Given the description of an element on the screen output the (x, y) to click on. 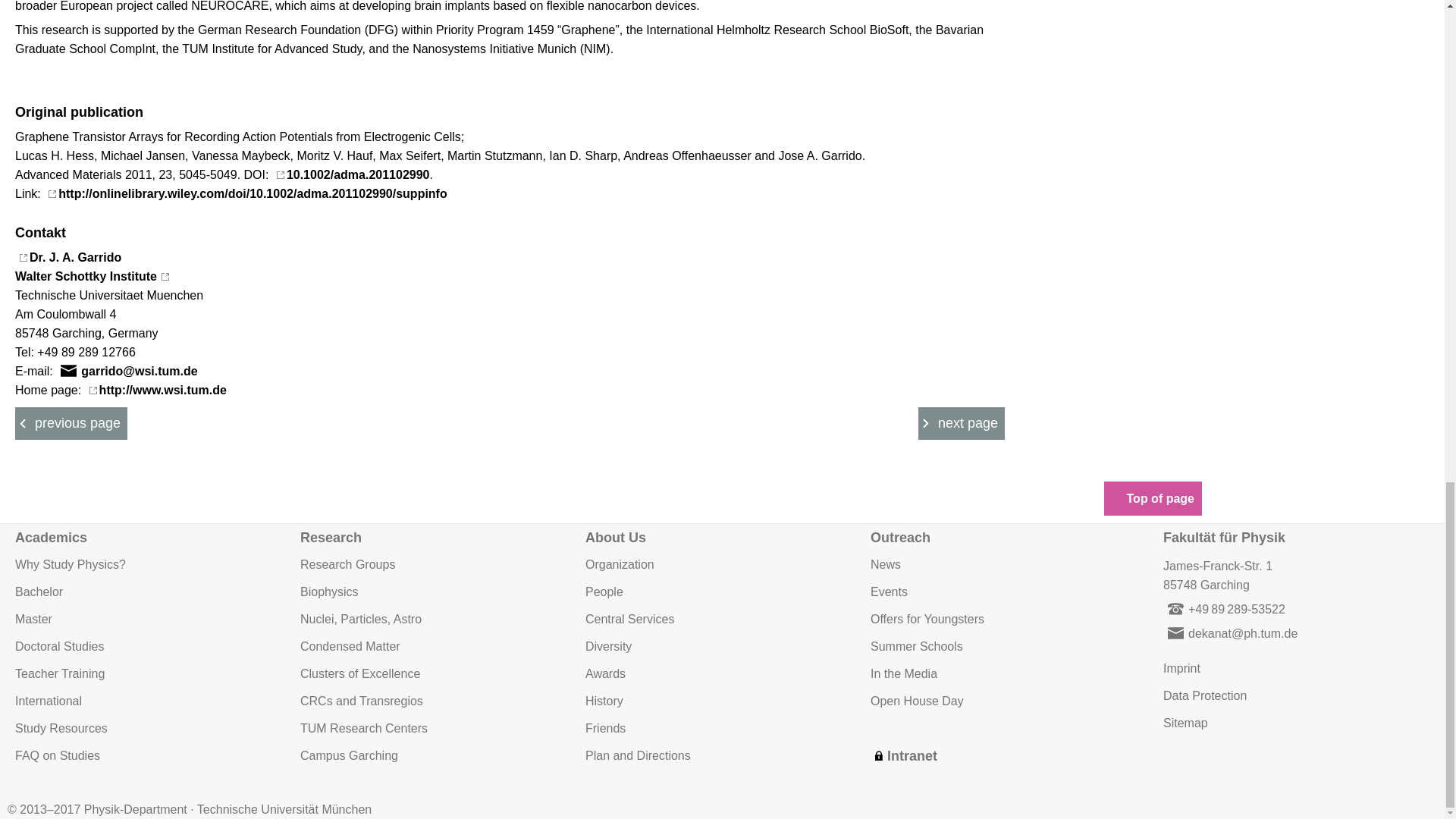
2011-11-15 (961, 423)
Nuclei, Particles, and Astrophysics (85, 266)
next page (434, 619)
previous page (961, 423)
2011-12-19 (71, 423)
